Given the description of an element on the screen output the (x, y) to click on. 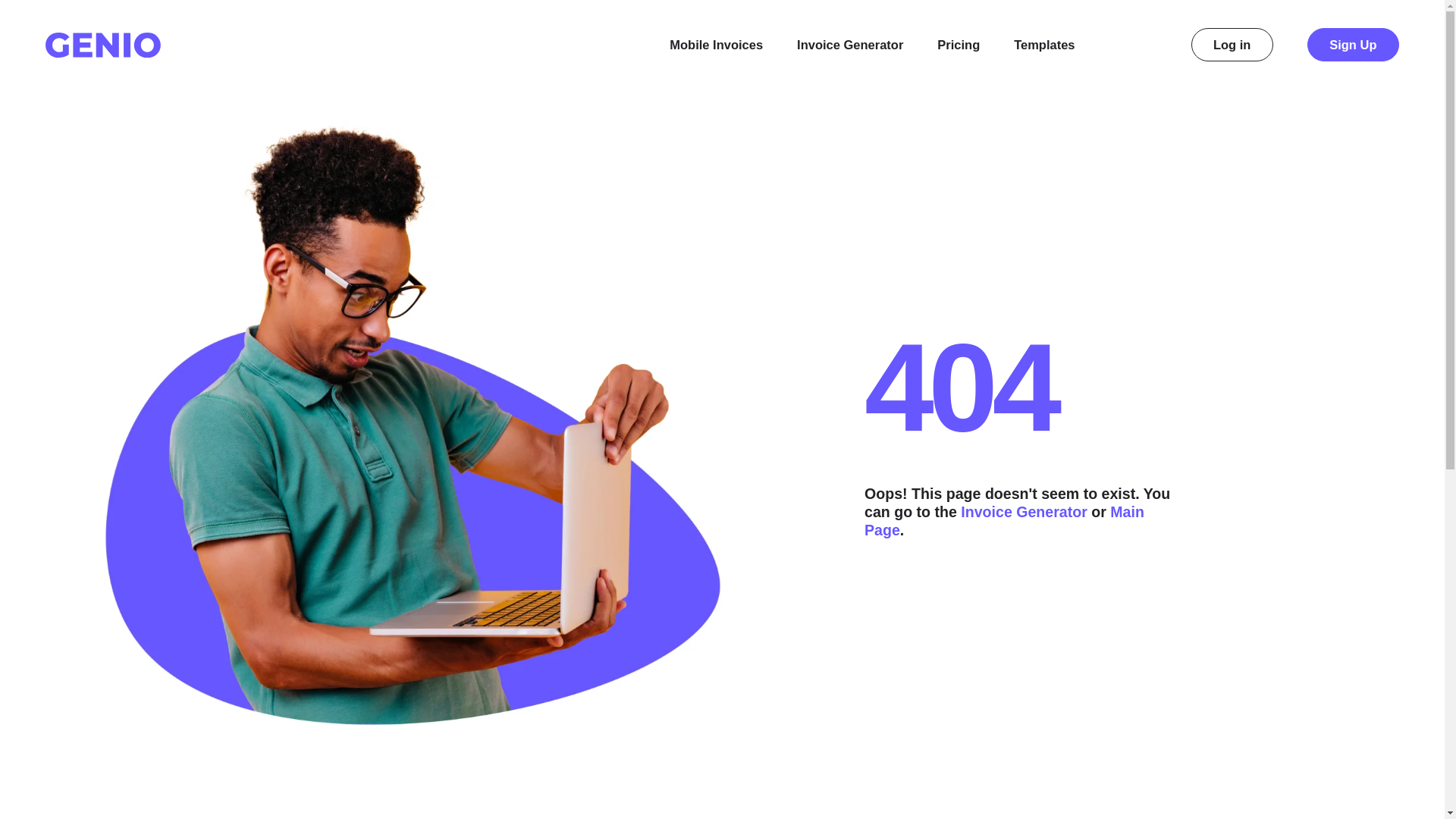
Mobile Invoices (715, 44)
Invoice Generator (1023, 511)
Main Page (1004, 520)
Invoice Generator (849, 44)
Templates (1056, 44)
Pricing (958, 44)
Sign Up (1353, 44)
Log in (1231, 44)
